Given the description of an element on the screen output the (x, y) to click on. 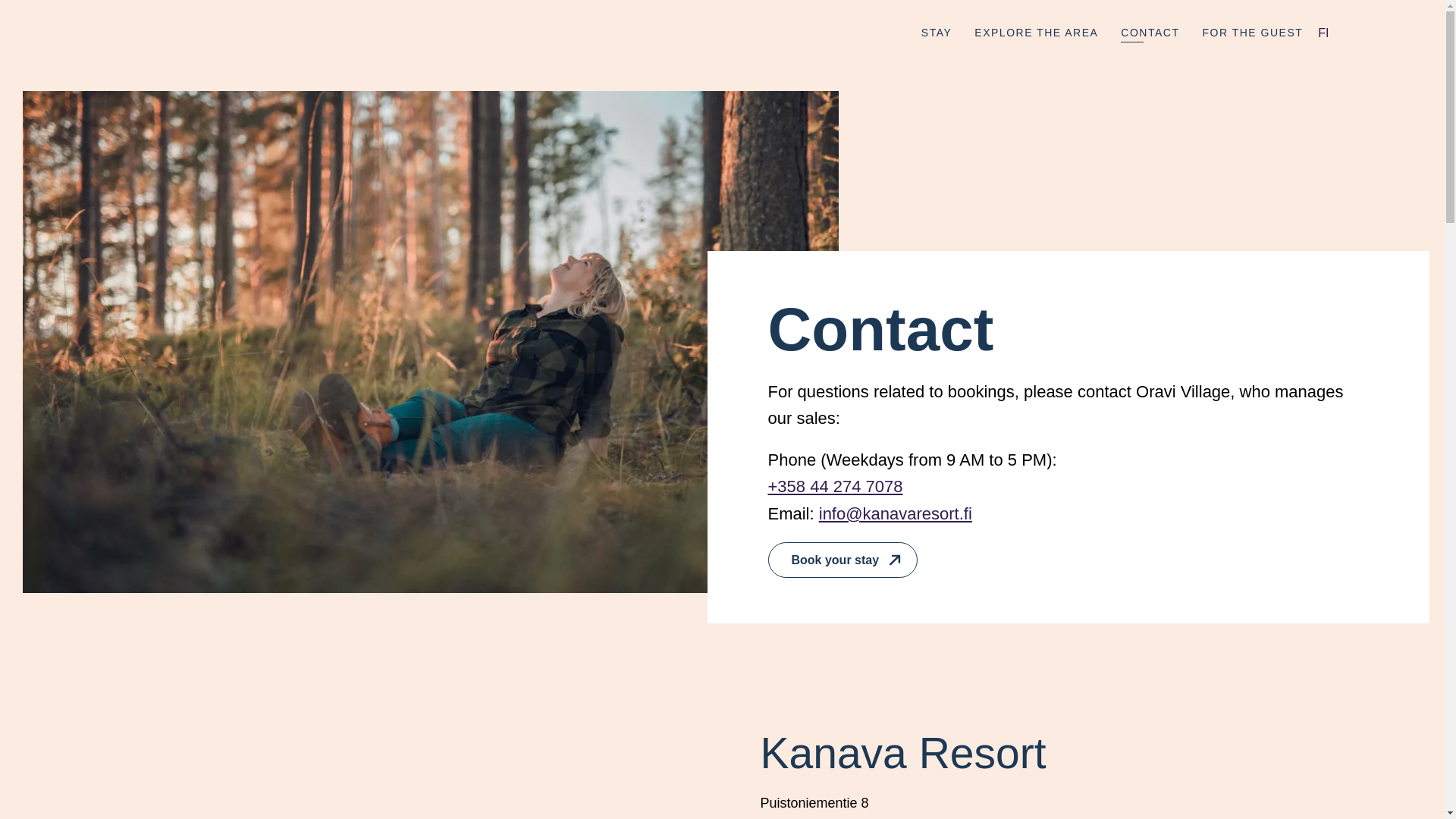
FOR THE GUEST (1252, 32)
Book your stay (842, 560)
EXPLORE THE AREA (1035, 32)
CONTACT (1150, 32)
STAY (936, 32)
Kanava Resort (152, 32)
FI (1322, 33)
